Given the description of an element on the screen output the (x, y) to click on. 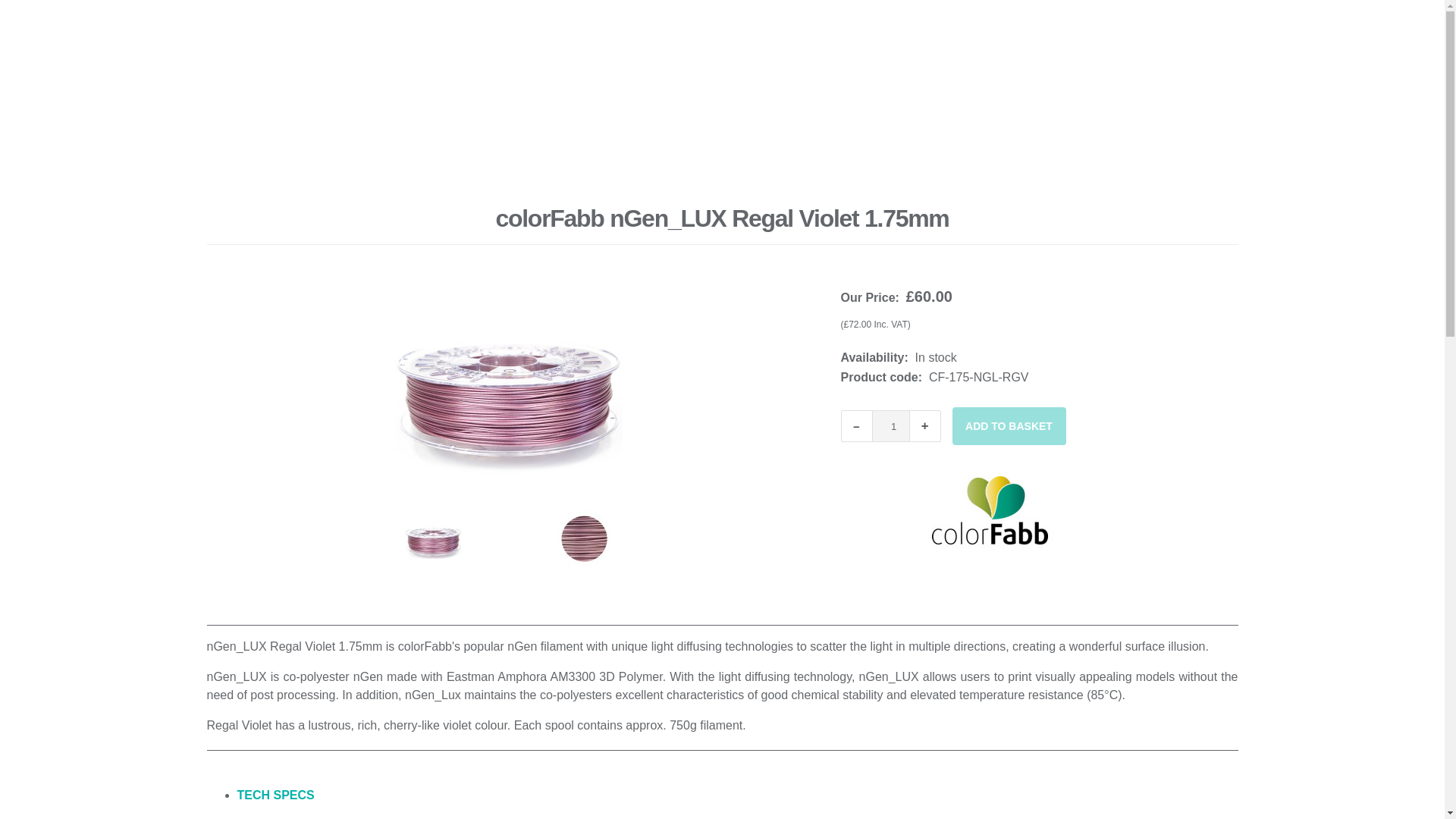
Zoom (507, 388)
ADD TO BASKET (1008, 426)
TECH SPECS (274, 794)
1 (891, 426)
